Given the description of an element on the screen output the (x, y) to click on. 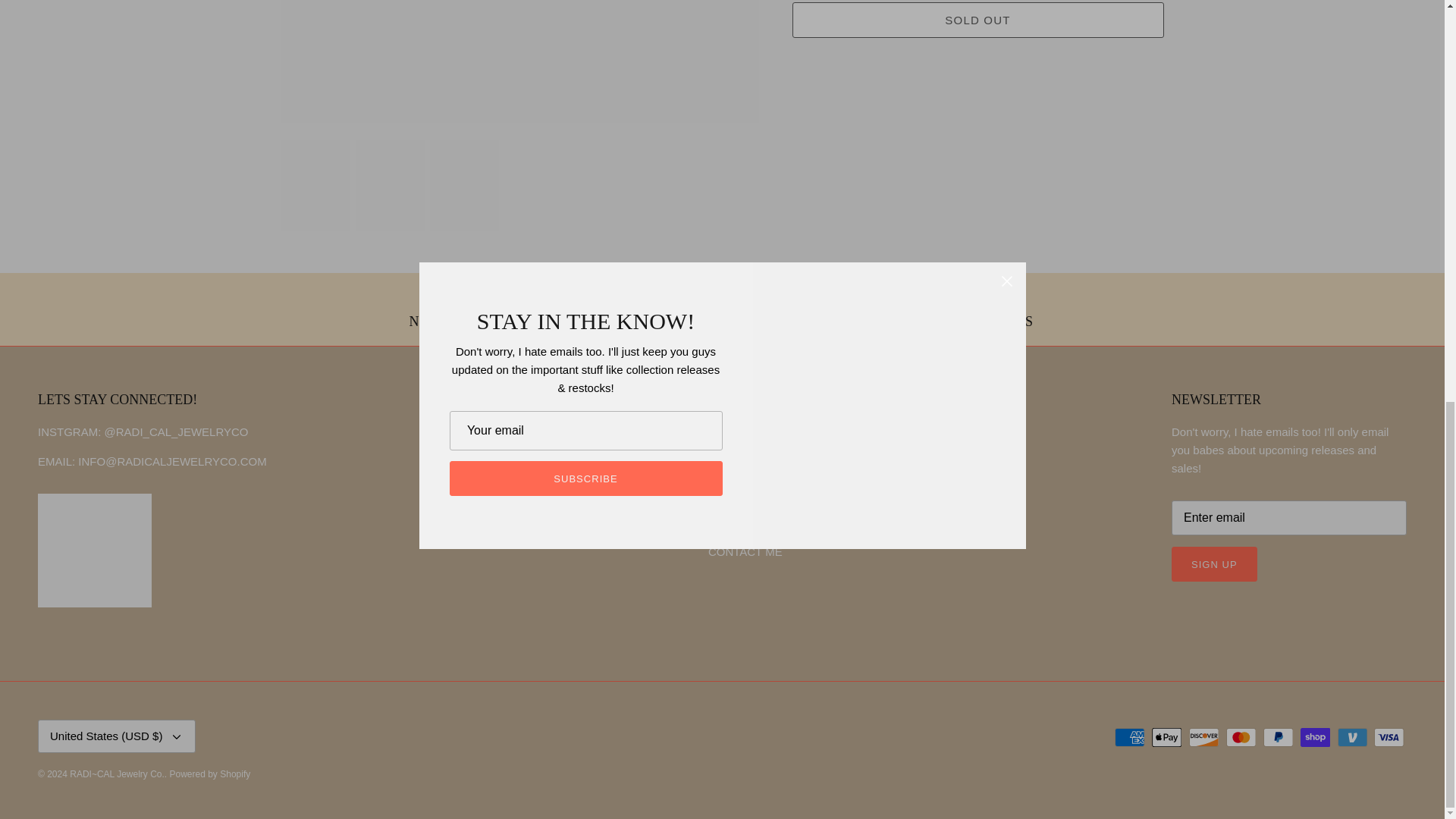
American Express (1129, 737)
PayPal (1277, 737)
Discover (1203, 737)
Down (176, 736)
Apple Pay (1166, 737)
Mastercard (1240, 737)
Venmo (1352, 737)
Visa (1388, 737)
Shop Pay (1315, 737)
